Given the description of an element on the screen output the (x, y) to click on. 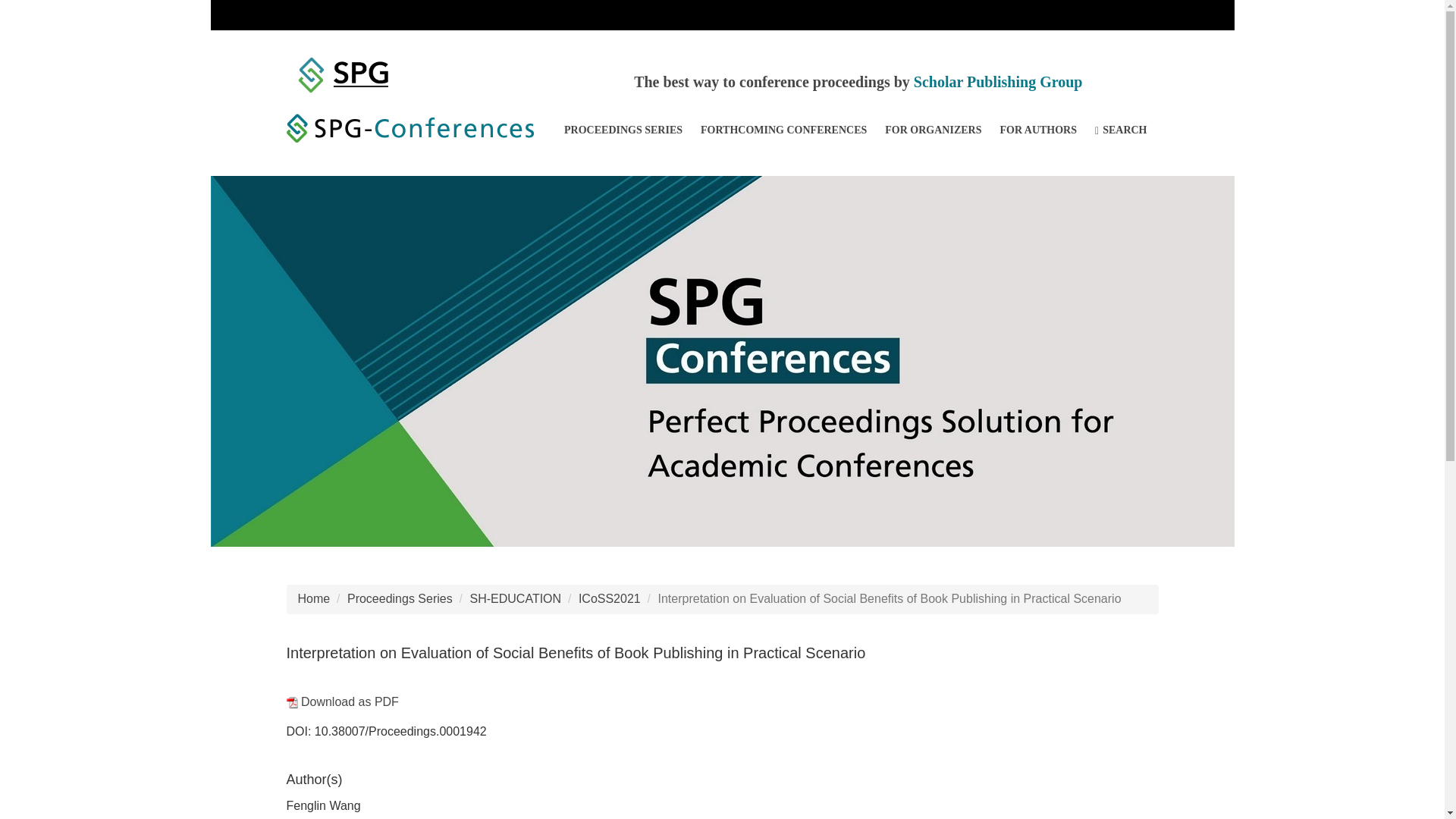
PROCEEDINGS SERIES (623, 129)
Scholar Publishing Group (998, 81)
Download as PDF (342, 701)
FOR ORGANIZERS (933, 129)
FORTHCOMING CONFERENCES (783, 129)
SH-EDUCATION (516, 598)
Home (313, 598)
SEARCH (1120, 129)
ICoSS2021 (609, 598)
Proceedings Series (399, 598)
FOR AUTHORS (1037, 129)
